Given the description of an element on the screen output the (x, y) to click on. 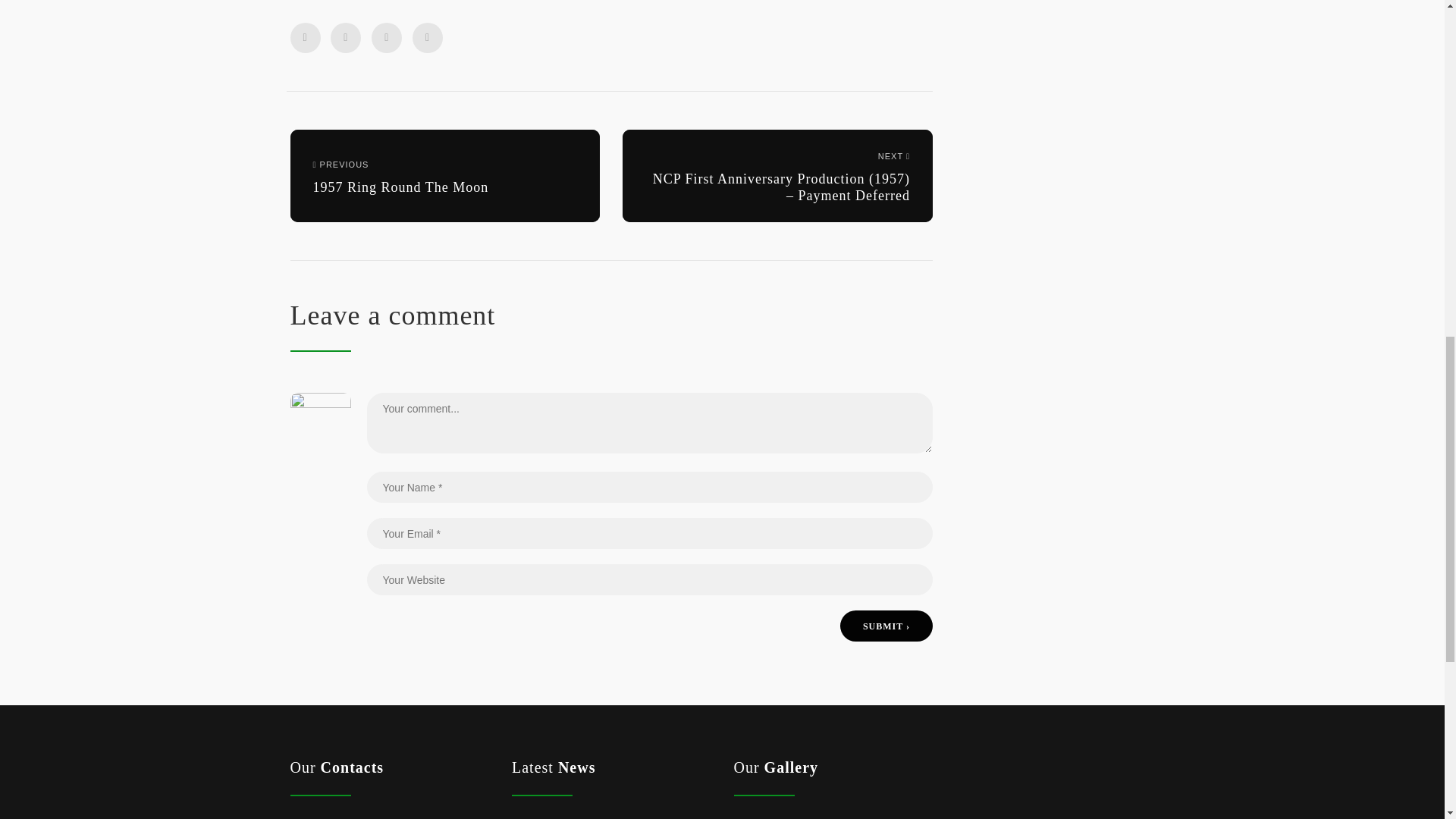
Share on Facebook (304, 37)
Email this (444, 175)
Share on Twitter (427, 37)
Share on Google Plus (345, 37)
